Given the description of an element on the screen output the (x, y) to click on. 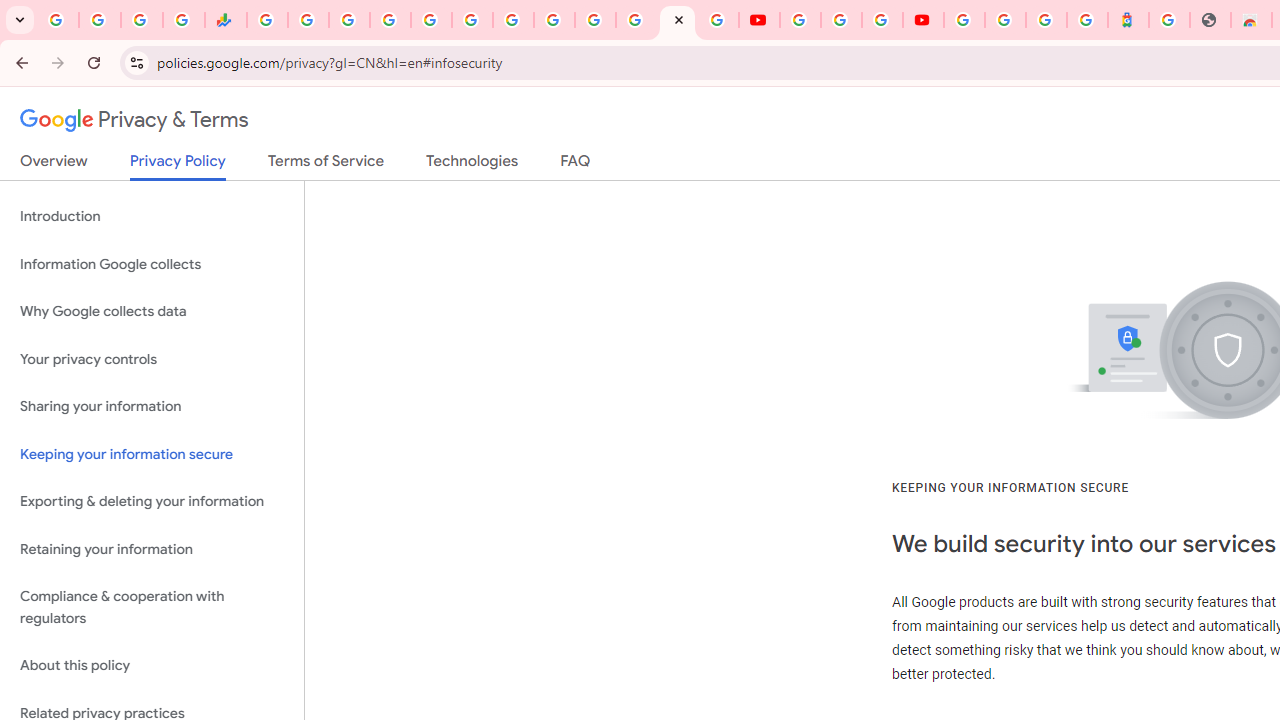
Privacy Checkup (717, 20)
Sign in - Google Accounts (389, 20)
